Given the description of an element on the screen output the (x, y) to click on. 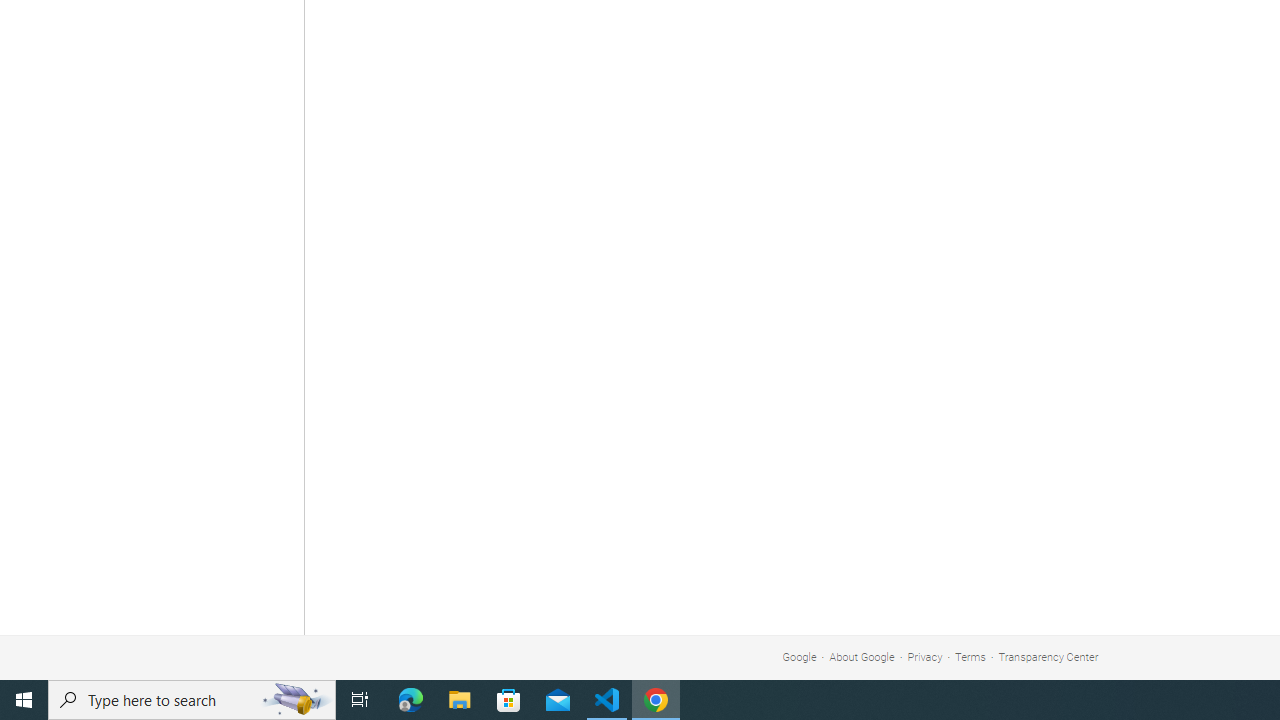
Transparency Center (1048, 656)
About Google (861, 656)
